Given the description of an element on the screen output the (x, y) to click on. 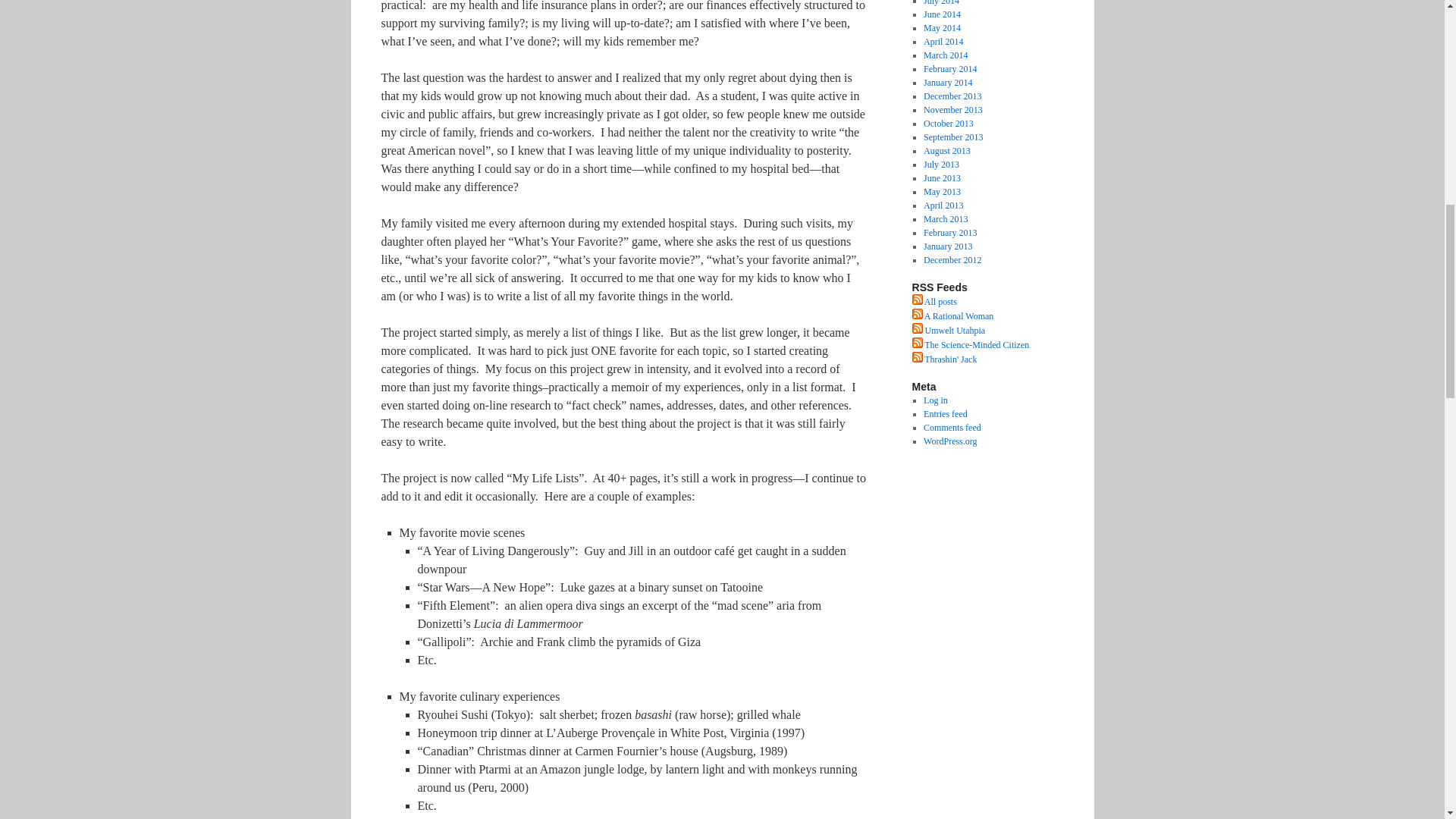
Syndicate this content (948, 330)
Syndicate this content (970, 344)
Syndicate this content (933, 301)
Syndicate this content (951, 316)
Syndicate this content (943, 358)
